Given the description of an element on the screen output the (x, y) to click on. 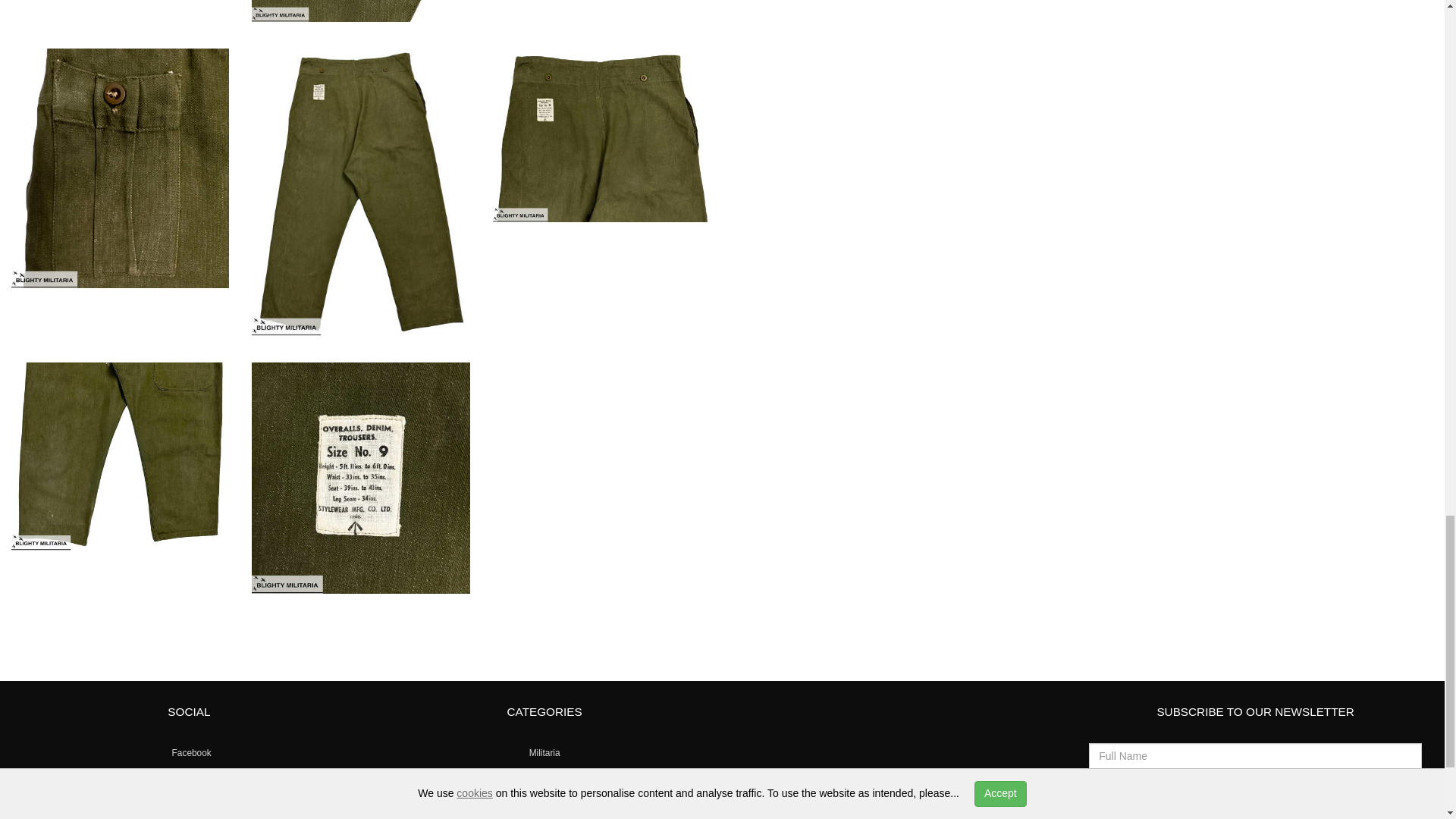
Privacy Policy (1293, 810)
Militaria (544, 752)
Vintage Clothing (545, 776)
on (1197, 808)
  Instagram (189, 776)
  Facebook (189, 752)
